Given the description of an element on the screen output the (x, y) to click on. 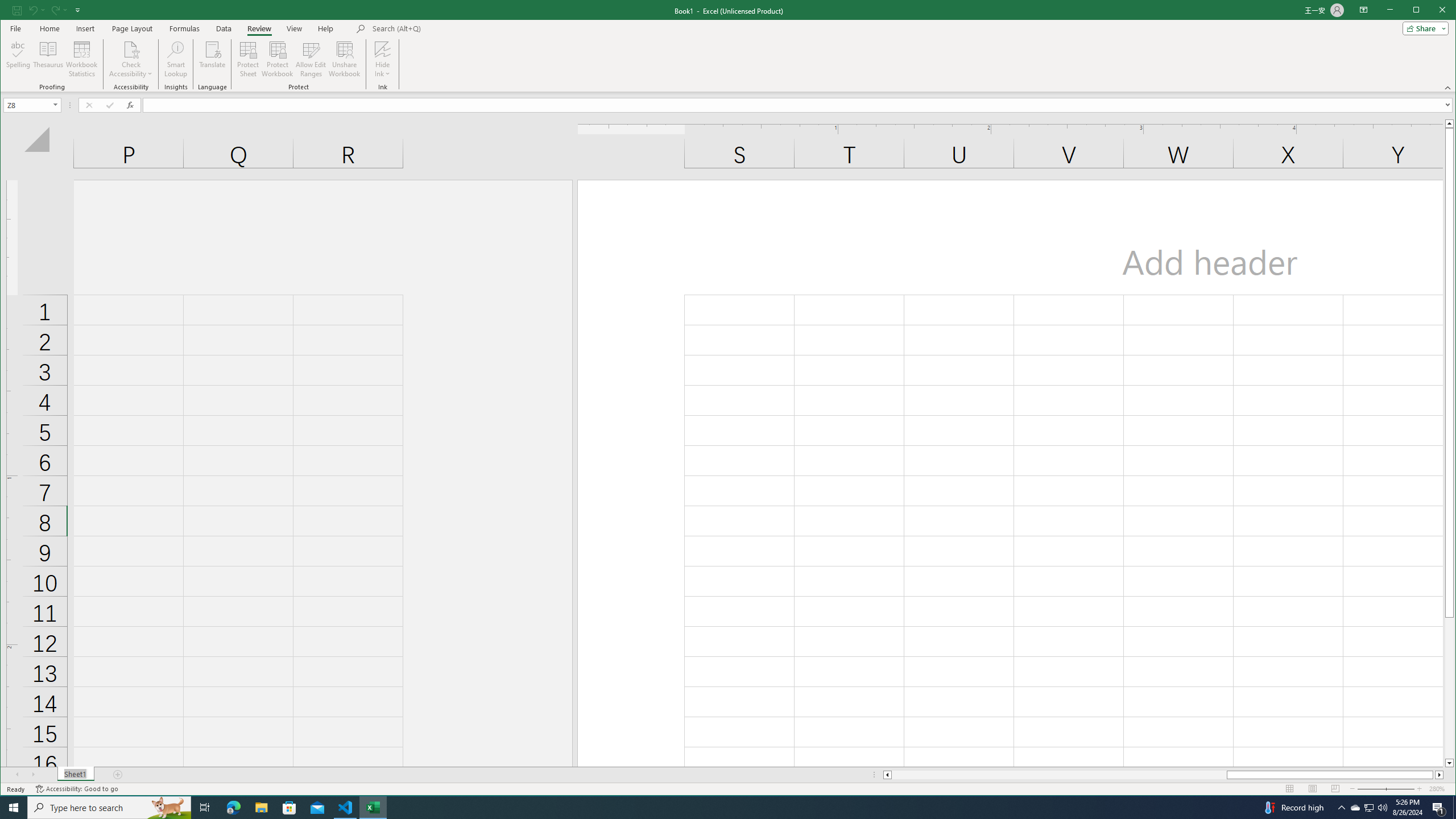
Translate (212, 59)
